Given the description of an element on the screen output the (x, y) to click on. 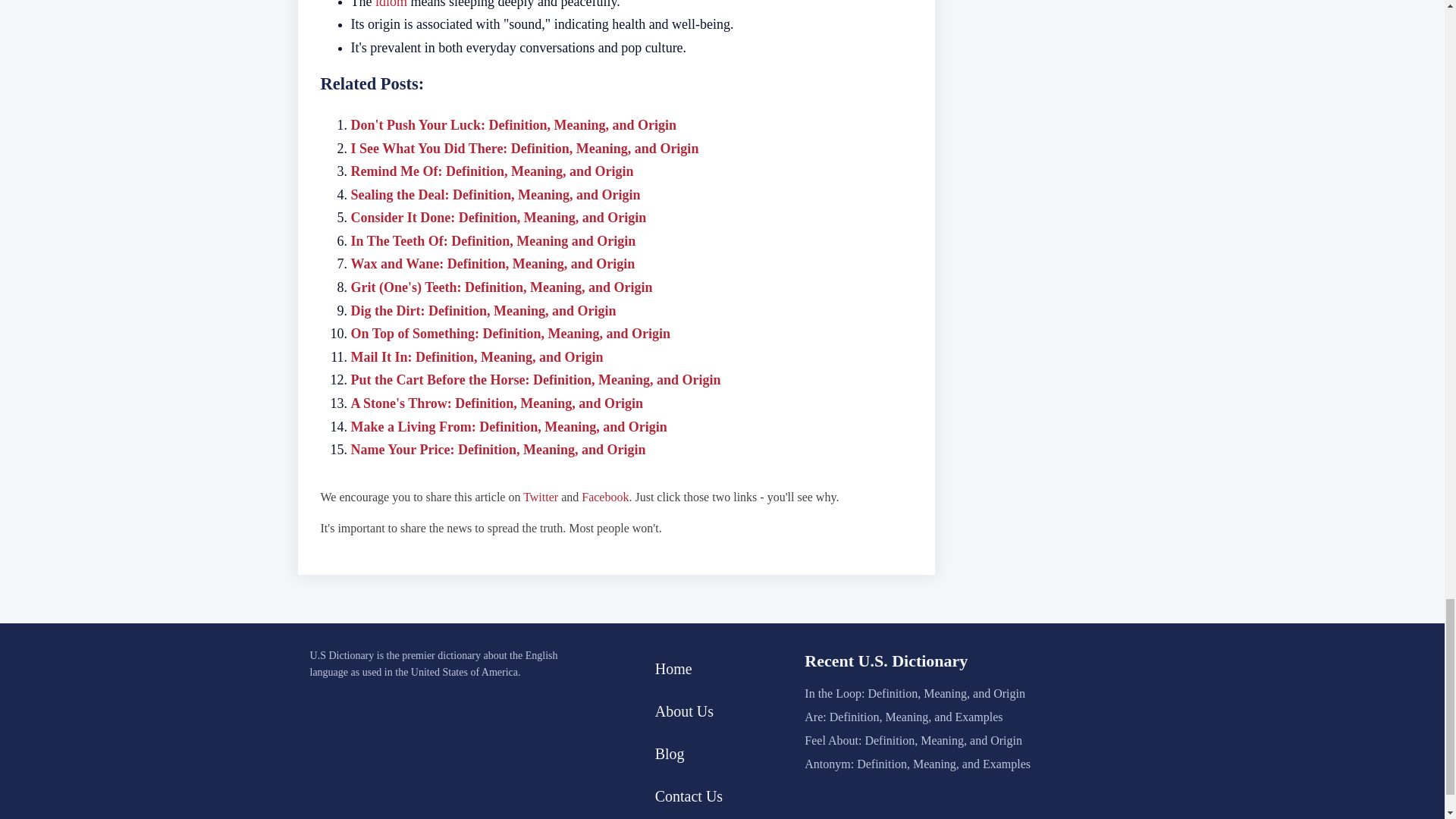
Wax and Wane: Definition, Meaning, and Origin (492, 263)
Consider It Done: Definition, Meaning, and Origin (498, 217)
Make a Living From: Definition, Meaning, and Origin (508, 426)
Sealing the Deal: Definition, Meaning, and Origin (495, 194)
Remind Me Of: Definition, Meaning, and Origin (491, 171)
Consider It Done: Definition, Meaning, and Origin (498, 217)
A Stone's Throw: Definition, Meaning, and Origin (496, 403)
Sealing the Deal: Definition, Meaning, and Origin (495, 194)
On Top of Something: Definition, Meaning, and Origin (509, 333)
